Given the description of an element on the screen output the (x, y) to click on. 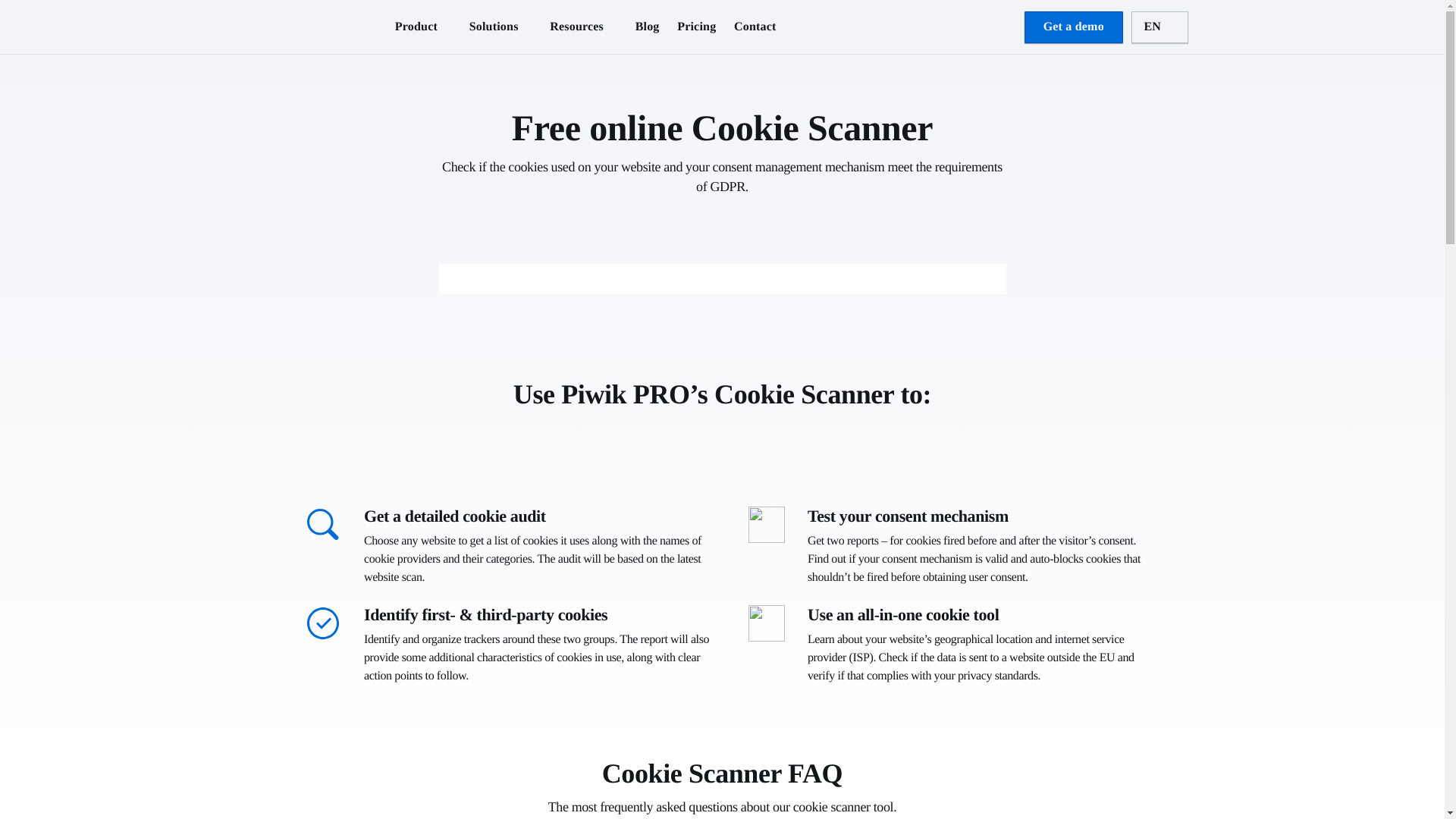
Blog (646, 27)
Solutions (493, 27)
Pricing (696, 27)
Get a demo (1073, 27)
EN (1159, 27)
